Given the description of an element on the screen output the (x, y) to click on. 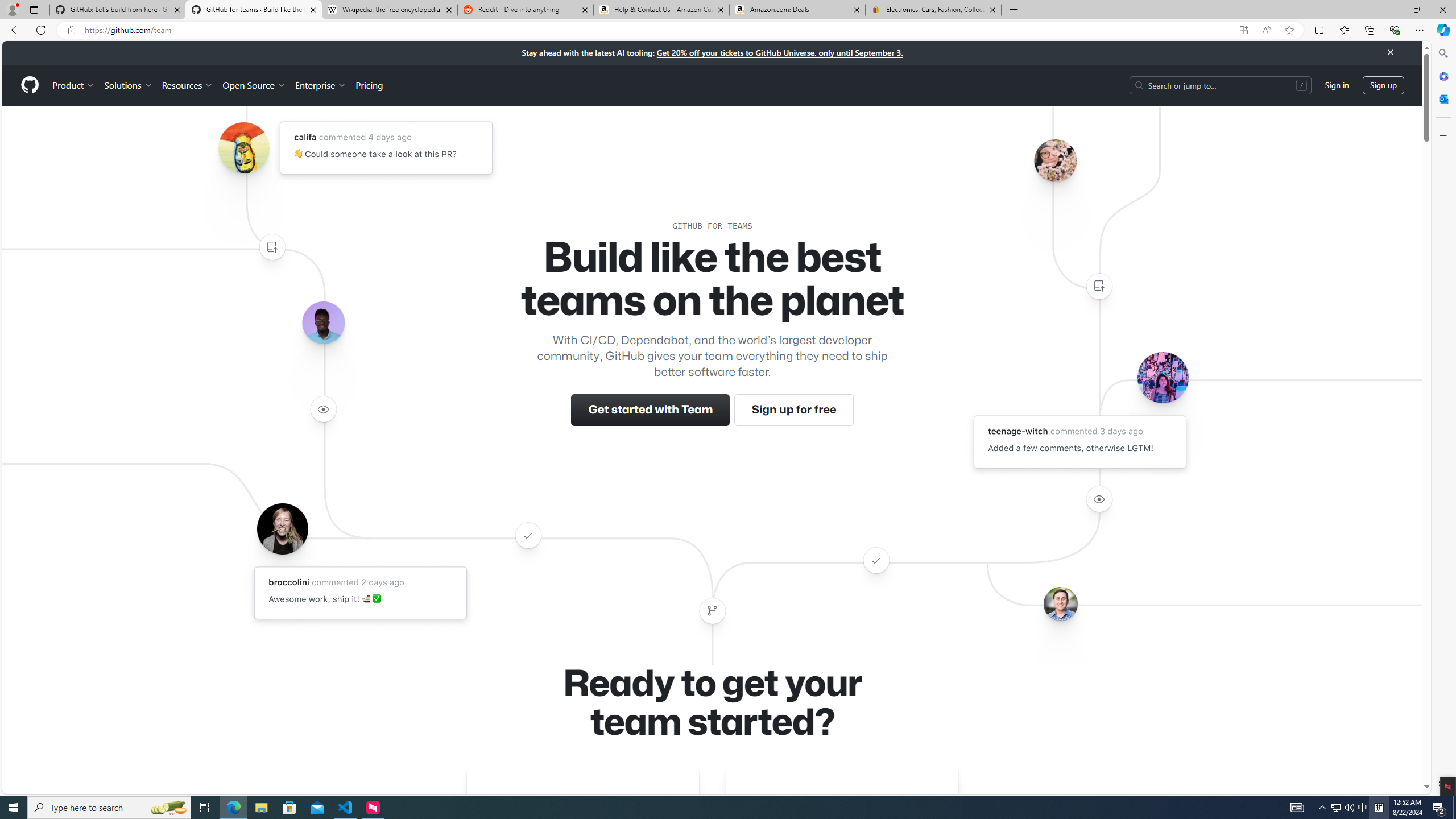
Resources (187, 84)
Avatar of the user ohjoycelau (1054, 159)
